Given the description of an element on the screen output the (x, y) to click on. 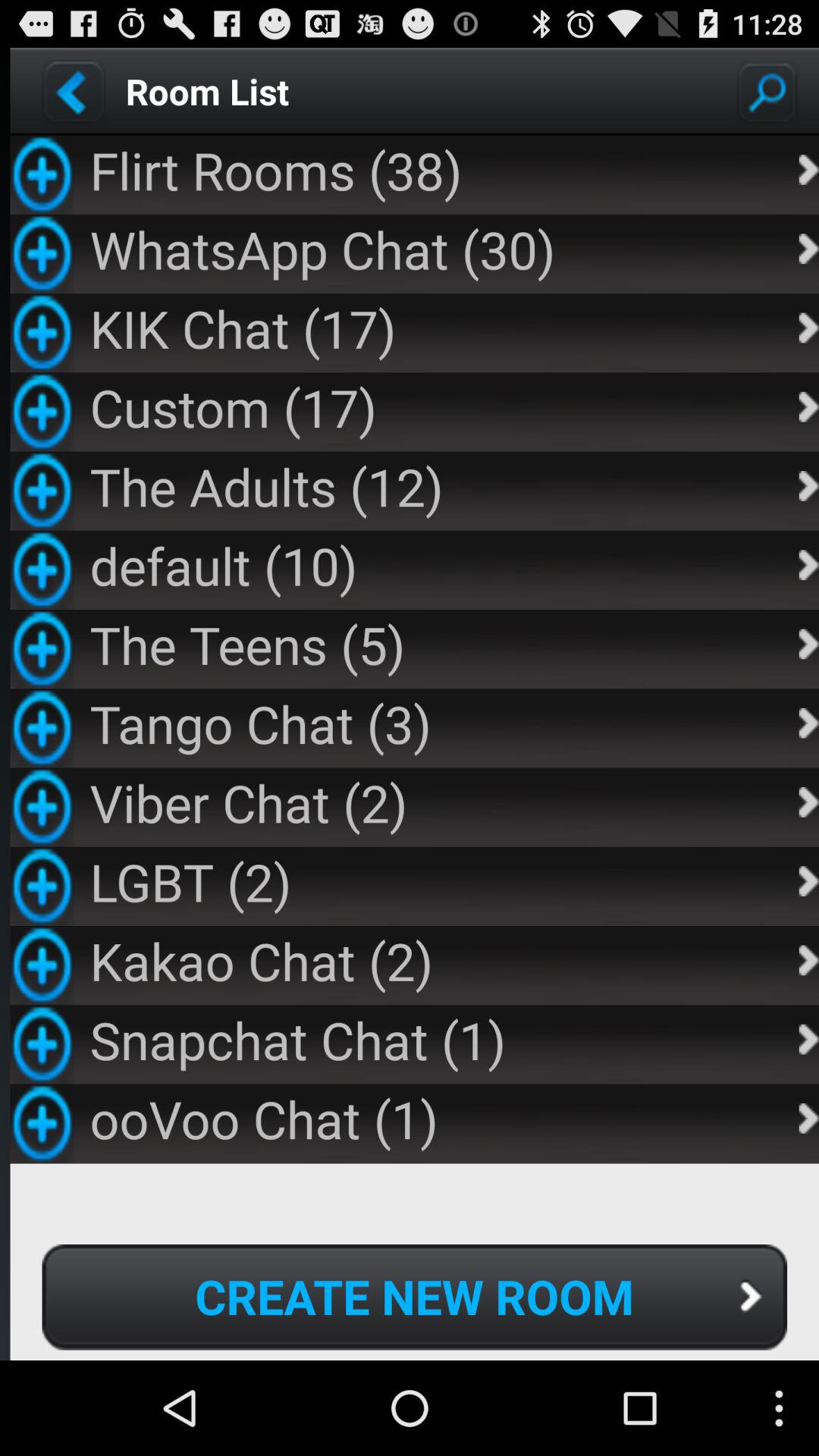
open app below oovoo chat (1) item (414, 1297)
